Given the description of an element on the screen output the (x, y) to click on. 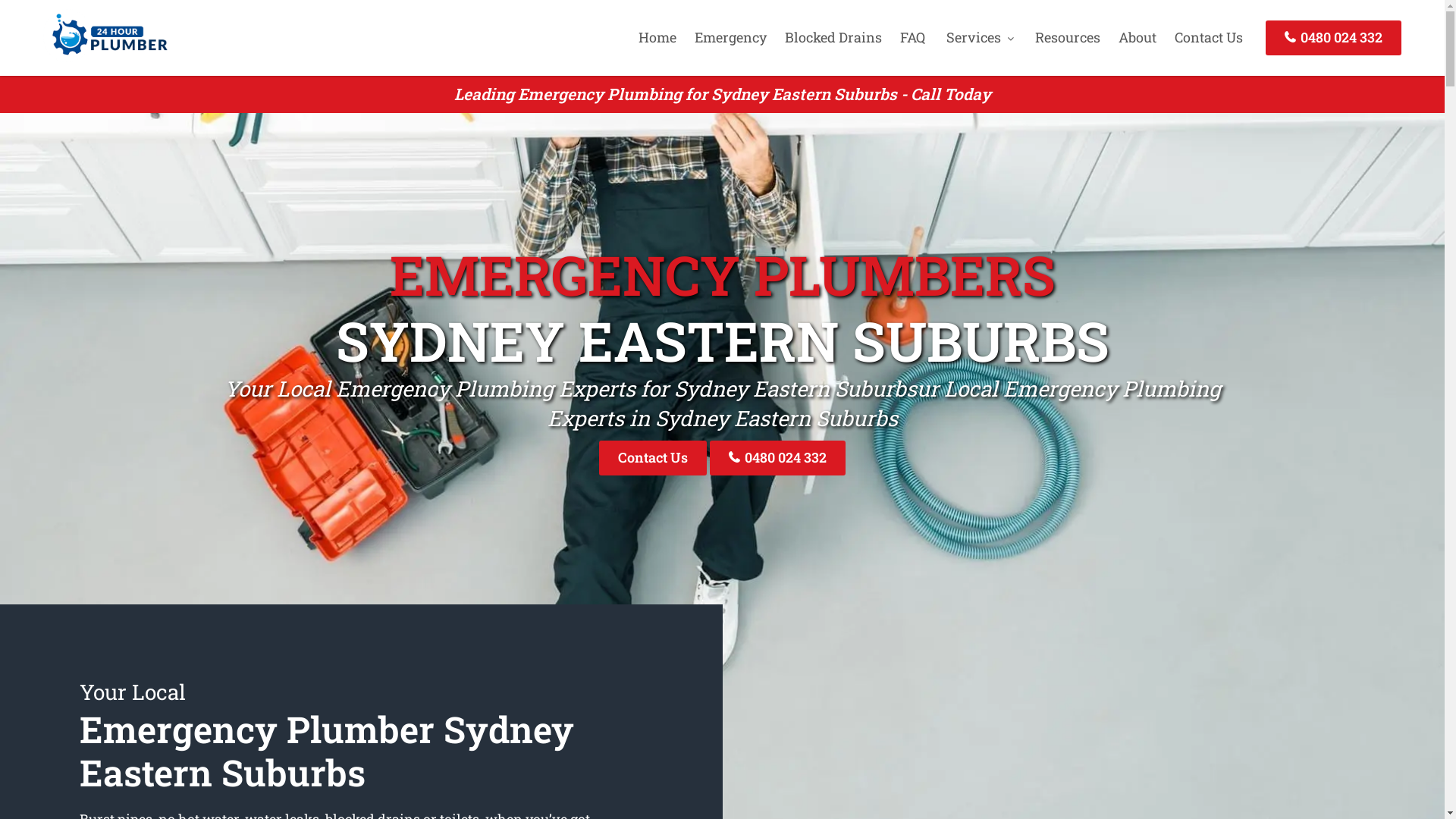
About Element type: text (1137, 37)
Services Element type: text (979, 37)
FAQ Element type: text (912, 37)
0480 024 332 Element type: text (777, 457)
Blocked Drains Element type: text (833, 37)
Contact Us Element type: text (652, 457)
Contact Us Element type: text (1208, 37)
0480 024 332 Element type: text (1333, 37)
24 Hour Plumber Element type: hover (105, 56)
Emergency Element type: text (730, 37)
Home Element type: text (657, 37)
Resources Element type: text (1067, 37)
